Given the description of an element on the screen output the (x, y) to click on. 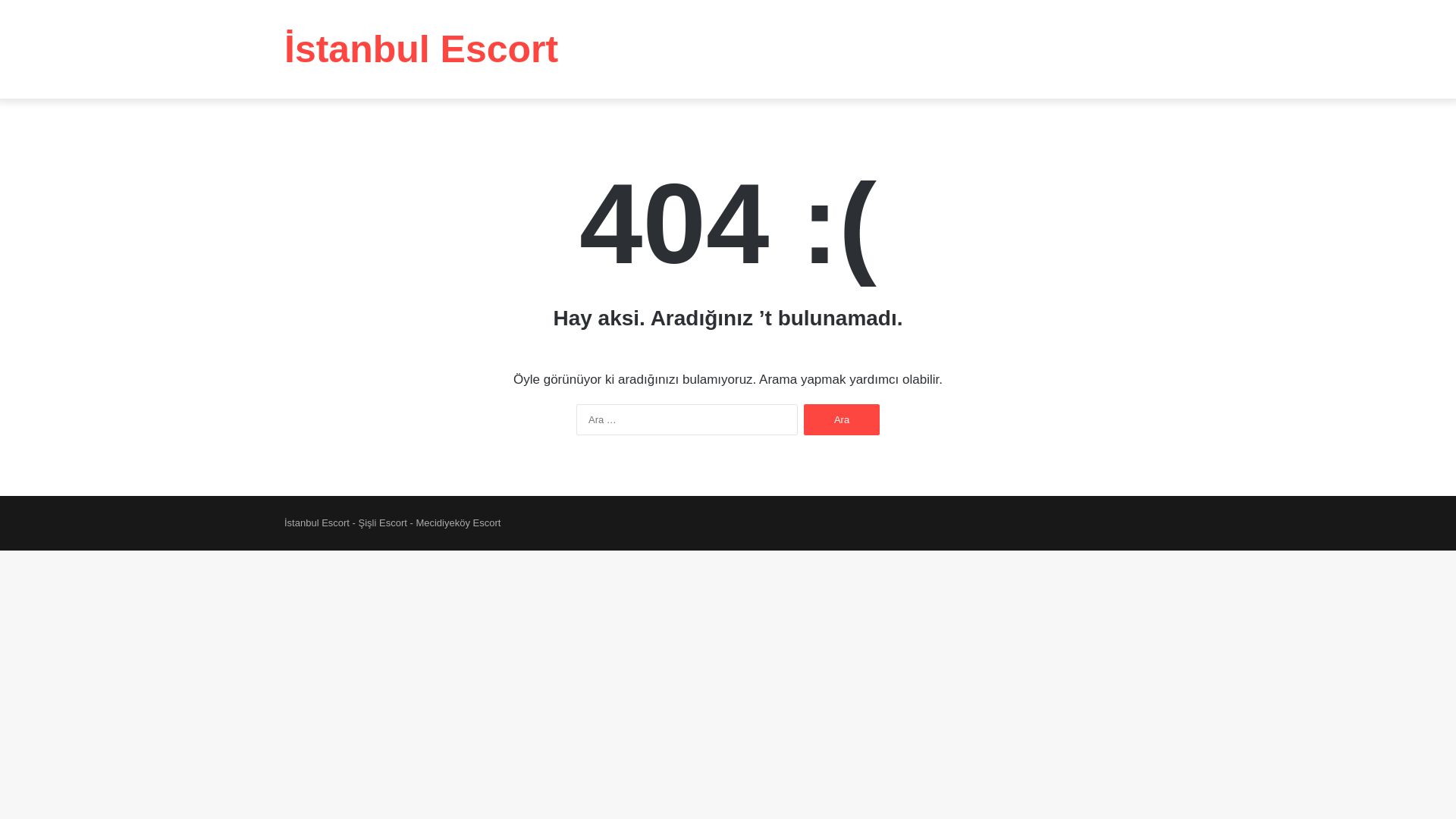
Ara Element type: text (841, 419)
